Given the description of an element on the screen output the (x, y) to click on. 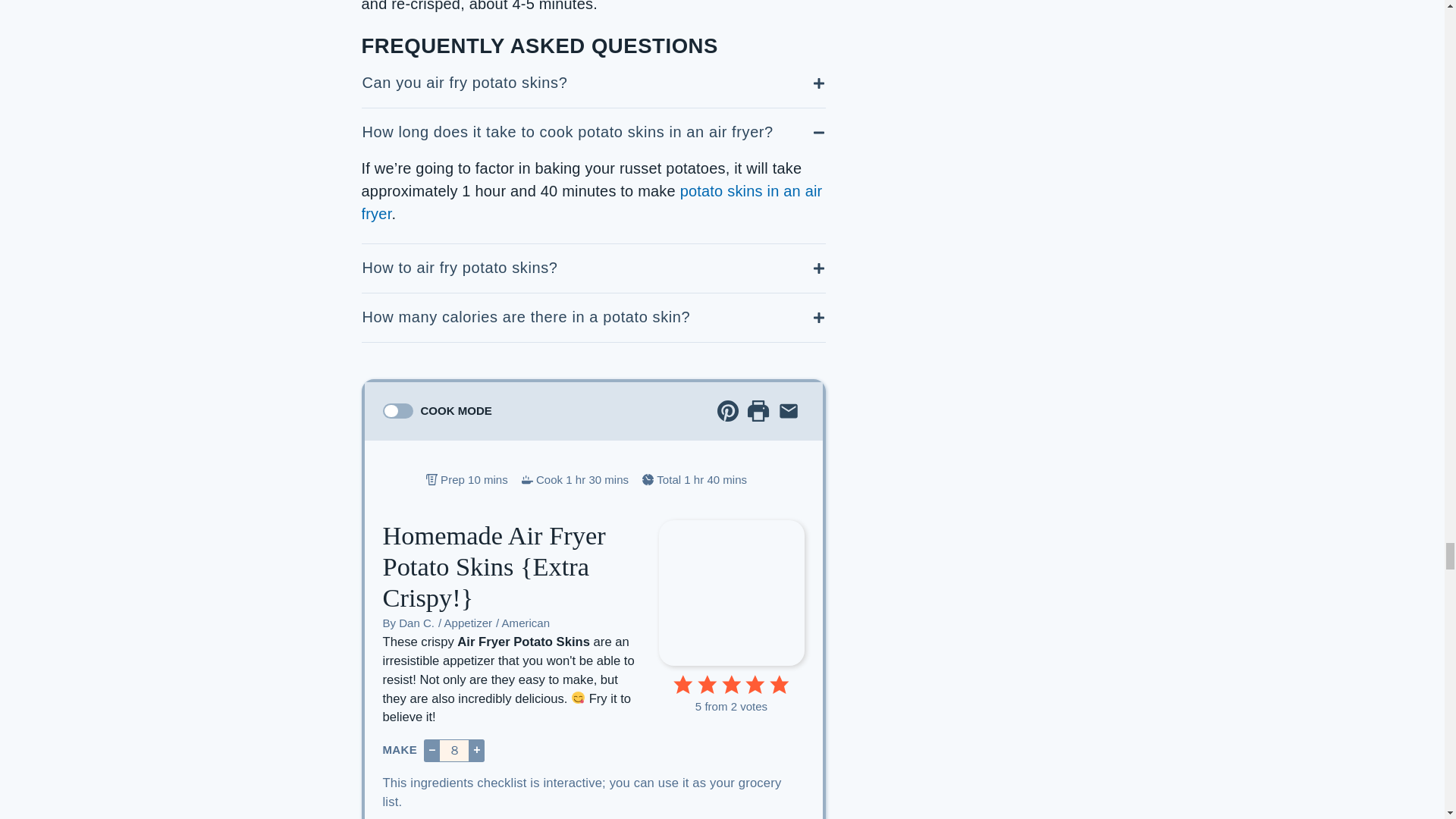
8 (453, 750)
